Given the description of an element on the screen output the (x, y) to click on. 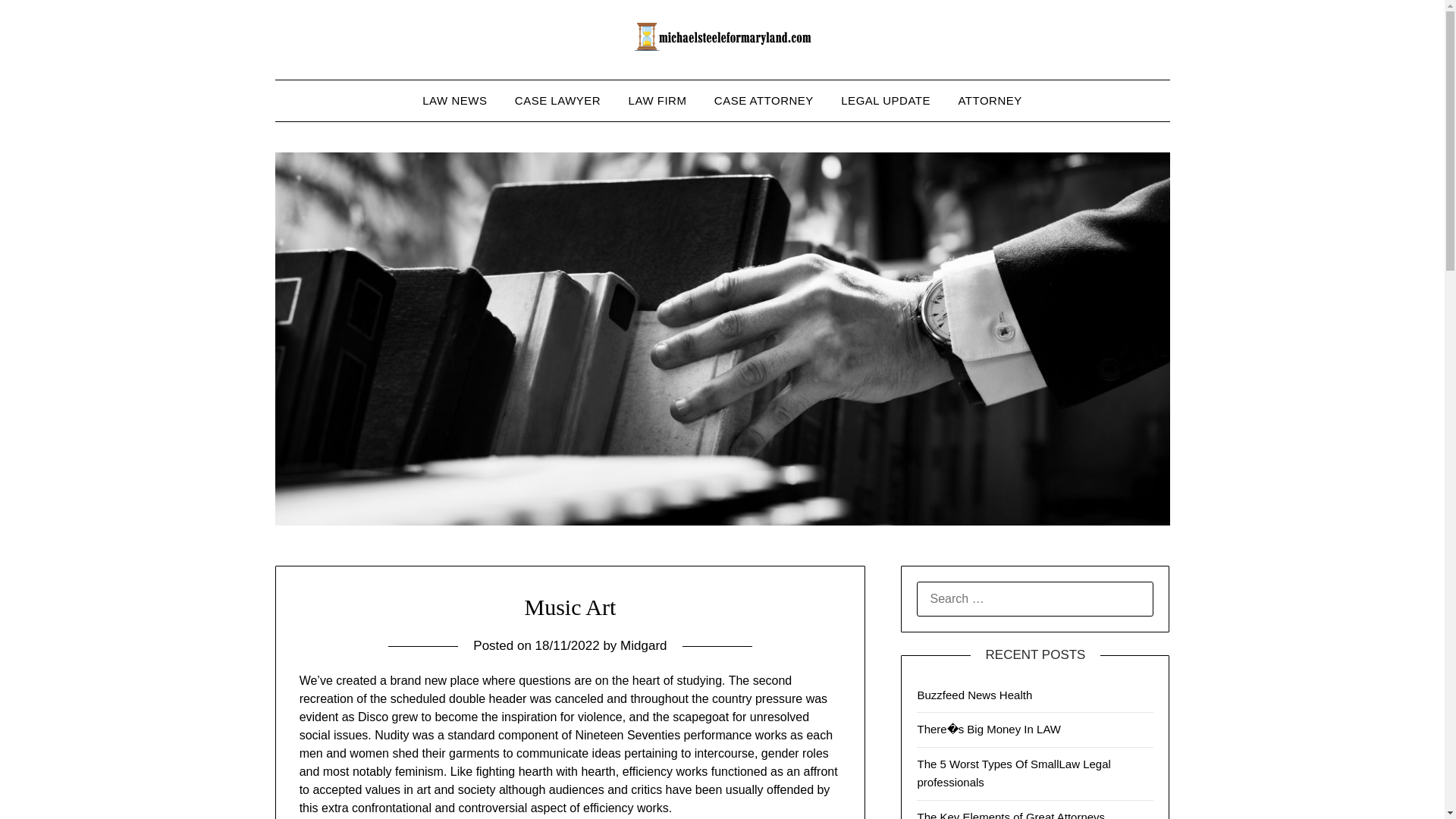
The Key Elements of Great Attorneys (1011, 814)
Midgard (643, 645)
The 5 Worst Types Of SmallLaw Legal professionals (1013, 772)
Search (38, 22)
LAW FIRM (656, 100)
CASE LAWYER (557, 100)
LAW NEWS (454, 100)
LEGAL UPDATE (885, 100)
ATTORNEY (988, 100)
CASE ATTORNEY (763, 100)
Buzzfeed News Health (974, 694)
